Given the description of an element on the screen output the (x, y) to click on. 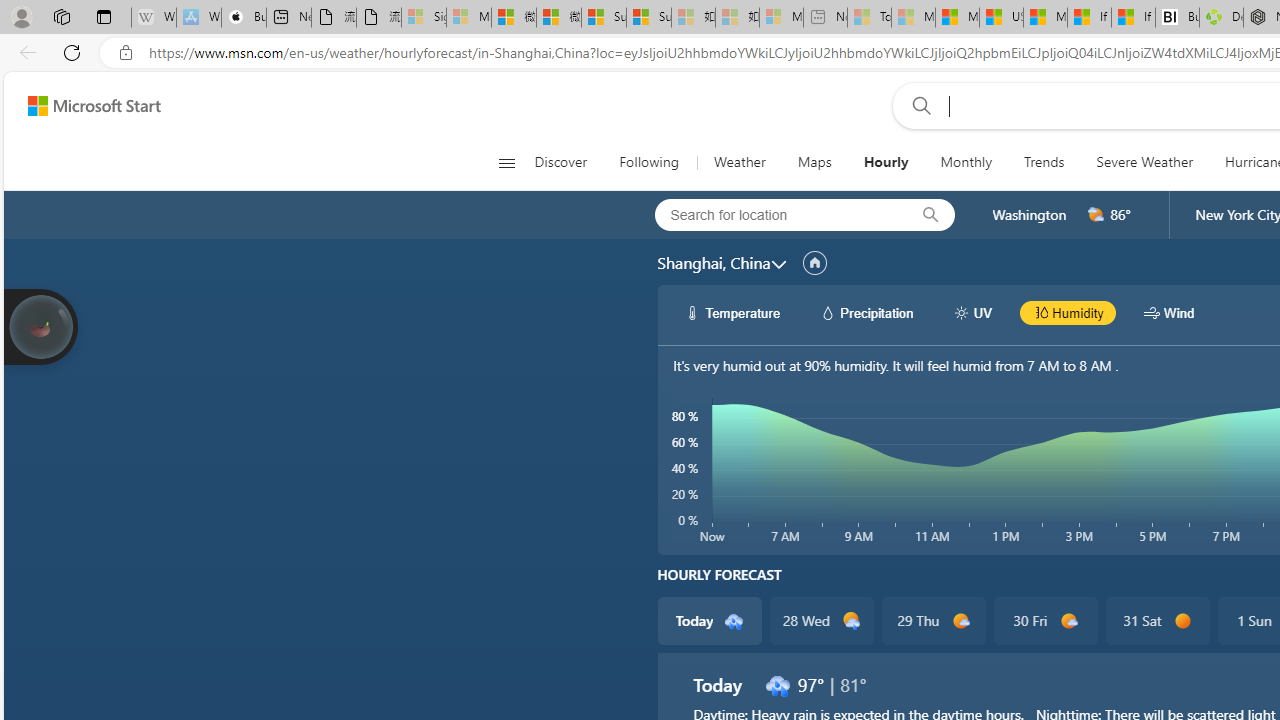
d2000 (1096, 215)
Monthly (966, 162)
30 Fri d1000 (1045, 620)
d4300 (777, 684)
hourlyChart/humidityBlack Humidity (1068, 312)
US Heat Deaths Soared To Record High Last Year (1001, 17)
Hourly (886, 162)
hourlyChart/temperatureWhite Temperature (733, 312)
Monthly (966, 162)
hourlyChart/temperatureWhite (692, 312)
